Given the description of an element on the screen output the (x, y) to click on. 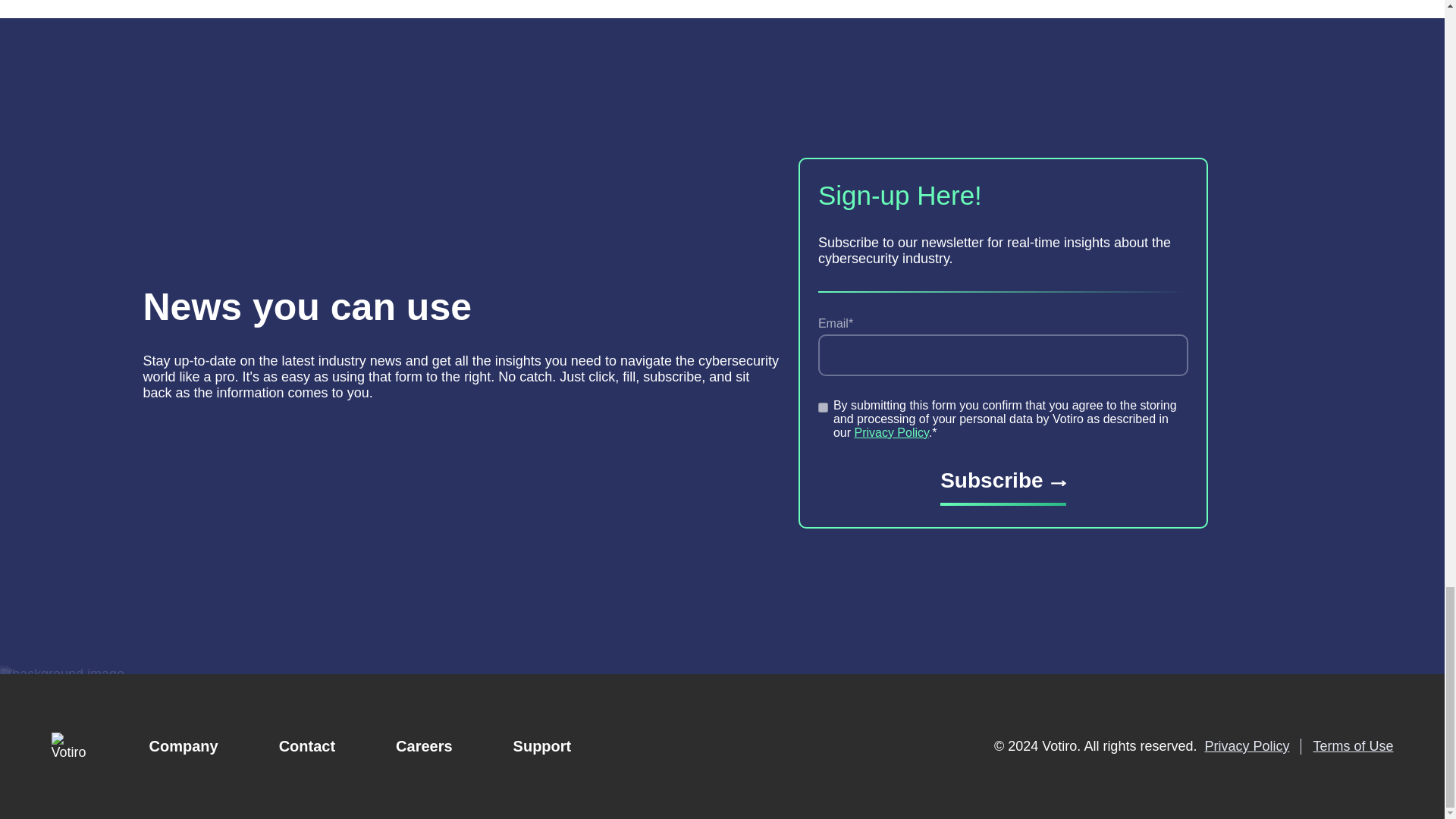
Subscribe (1002, 487)
true (823, 407)
